Given the description of an element on the screen output the (x, y) to click on. 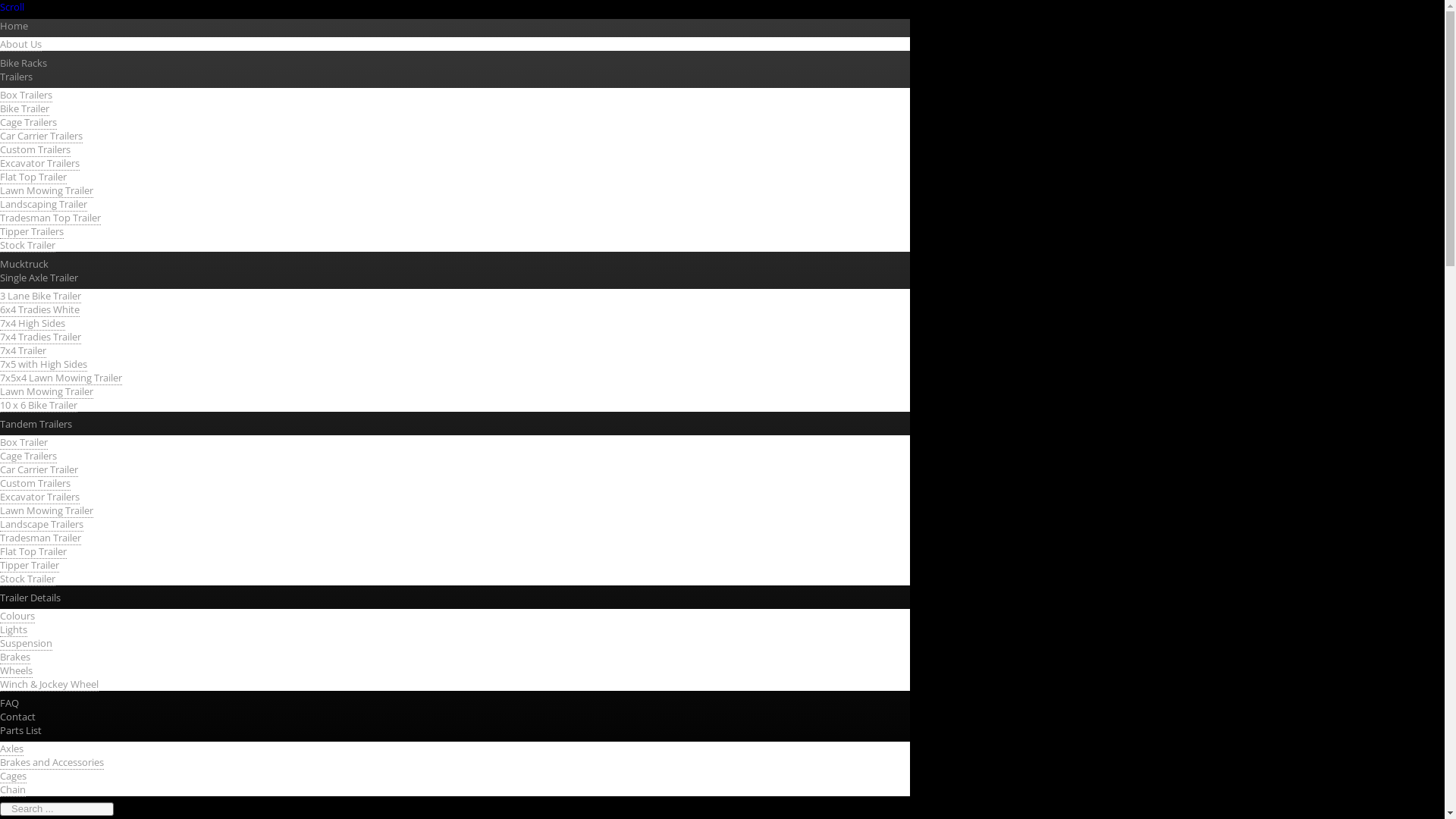
Tipper Trailer Element type: text (29, 565)
Flat Top Trailer Element type: text (33, 551)
Cage Trailers Element type: text (28, 122)
7x4 Tradies Trailer Element type: text (40, 336)
Cages Element type: text (13, 775)
Wheels Element type: text (16, 670)
Excavator Trailers Element type: text (39, 163)
Suspension Element type: text (26, 643)
Box Trailer Element type: text (23, 442)
Cage Trailers Element type: text (28, 455)
About Us Element type: text (20, 44)
Contact Element type: text (17, 716)
Lawn Mowing Trailer Element type: text (46, 190)
6x4 Tradies White Element type: text (39, 309)
Tradesman Top Trailer Element type: text (50, 217)
Landscape Trailers Element type: text (41, 524)
Brakes and Accessories Element type: text (51, 762)
Stock Trailer Element type: text (27, 578)
Car Carrier Trailer Element type: text (39, 469)
7x5 with High Sides Element type: text (43, 364)
Home Element type: text (14, 24)
Landscaping Trailer Element type: text (43, 204)
7x4 Trailer Element type: text (23, 350)
Bike Racks Element type: text (23, 62)
Mucktruck Element type: text (24, 262)
Lawn Mowing Trailer Element type: text (46, 510)
Trailers Element type: text (16, 76)
3 Lane Bike Trailer Element type: text (40, 295)
Lawn Mowing Trailer Element type: text (46, 391)
Parts List Element type: text (20, 730)
Custom Trailers Element type: text (35, 483)
Single Axle Trailer Element type: text (39, 276)
Winch & Jockey Wheel Element type: text (49, 684)
Stock Trailer Element type: text (27, 245)
Box Trailers Element type: text (26, 94)
Tandem Trailers Element type: text (36, 423)
FAQ Element type: text (9, 702)
Custom Trailers Element type: text (35, 149)
Lights Element type: text (13, 629)
7x5x4 Lawn Mowing Trailer Element type: text (61, 377)
Excavator Trailers Element type: text (39, 496)
Tipper Trailers Element type: text (31, 231)
Brakes Element type: text (15, 656)
Colours Element type: text (17, 615)
Flat Top Trailer Element type: text (33, 176)
10 x 6 Bike Trailer Element type: text (38, 405)
Trailer Details Element type: text (30, 596)
Axles Element type: text (11, 748)
Chain Element type: text (12, 789)
7x4 High Sides Element type: text (32, 323)
Scroll Element type: text (12, 6)
Tradesman Trailer Element type: text (40, 537)
Car Carrier Trailers Element type: text (41, 135)
Bike Trailer Element type: text (24, 108)
